Given the description of an element on the screen output the (x, y) to click on. 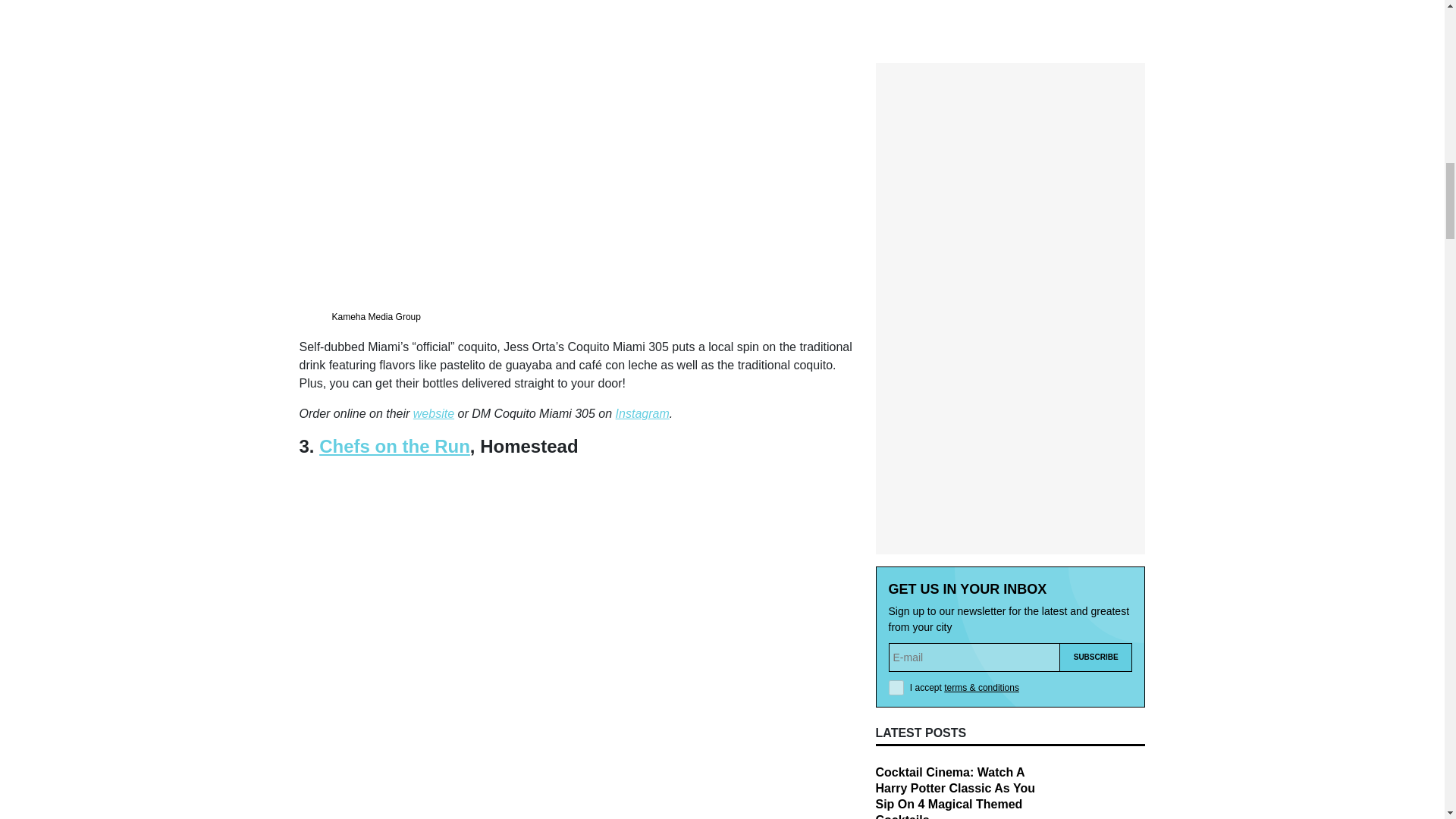
Instagram (642, 413)
website (433, 413)
Chefs on the Run (394, 445)
